Given the description of an element on the screen output the (x, y) to click on. 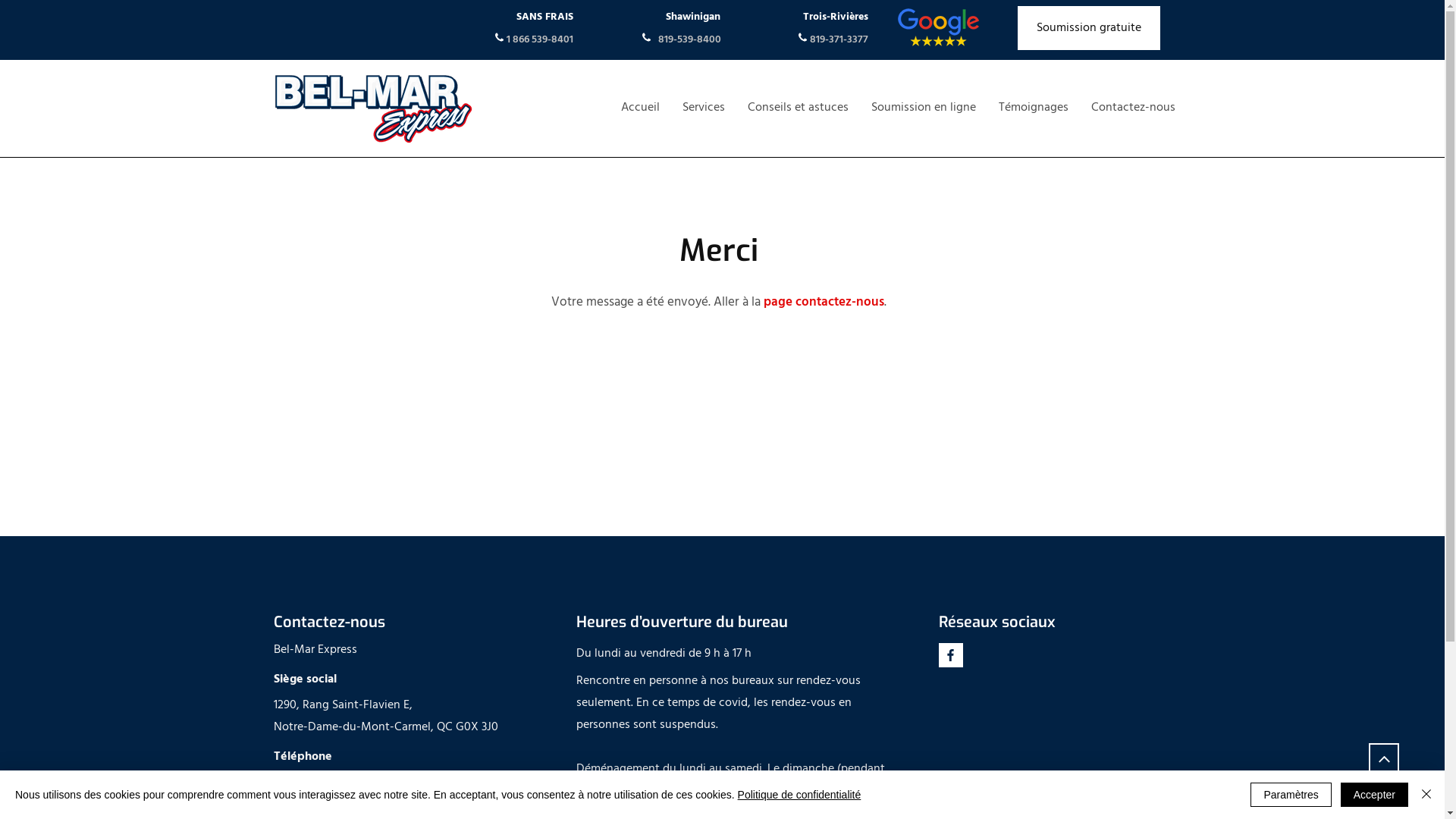
page contactez-nous Element type: text (823, 302)
Accepter Element type: text (1374, 794)
Embedded Content Element type: hover (977, 682)
 1 866 539-8401 Element type: text (537, 39)
Embedded Content Element type: hover (972, 709)
Soumission gratuite Element type: text (1088, 28)
819-539-8400 Element type: text (380, 806)
819-539-8400 Element type: text (689, 39)
Accueil Element type: text (640, 107)
819-371-3377 Element type: text (838, 39)
819-539-8400 Element type: text (363, 784)
Conseils et astuces Element type: text (797, 107)
Soumission en ligne Element type: text (923, 107)
Contactez-nous Element type: text (1133, 107)
